Given the description of an element on the screen output the (x, y) to click on. 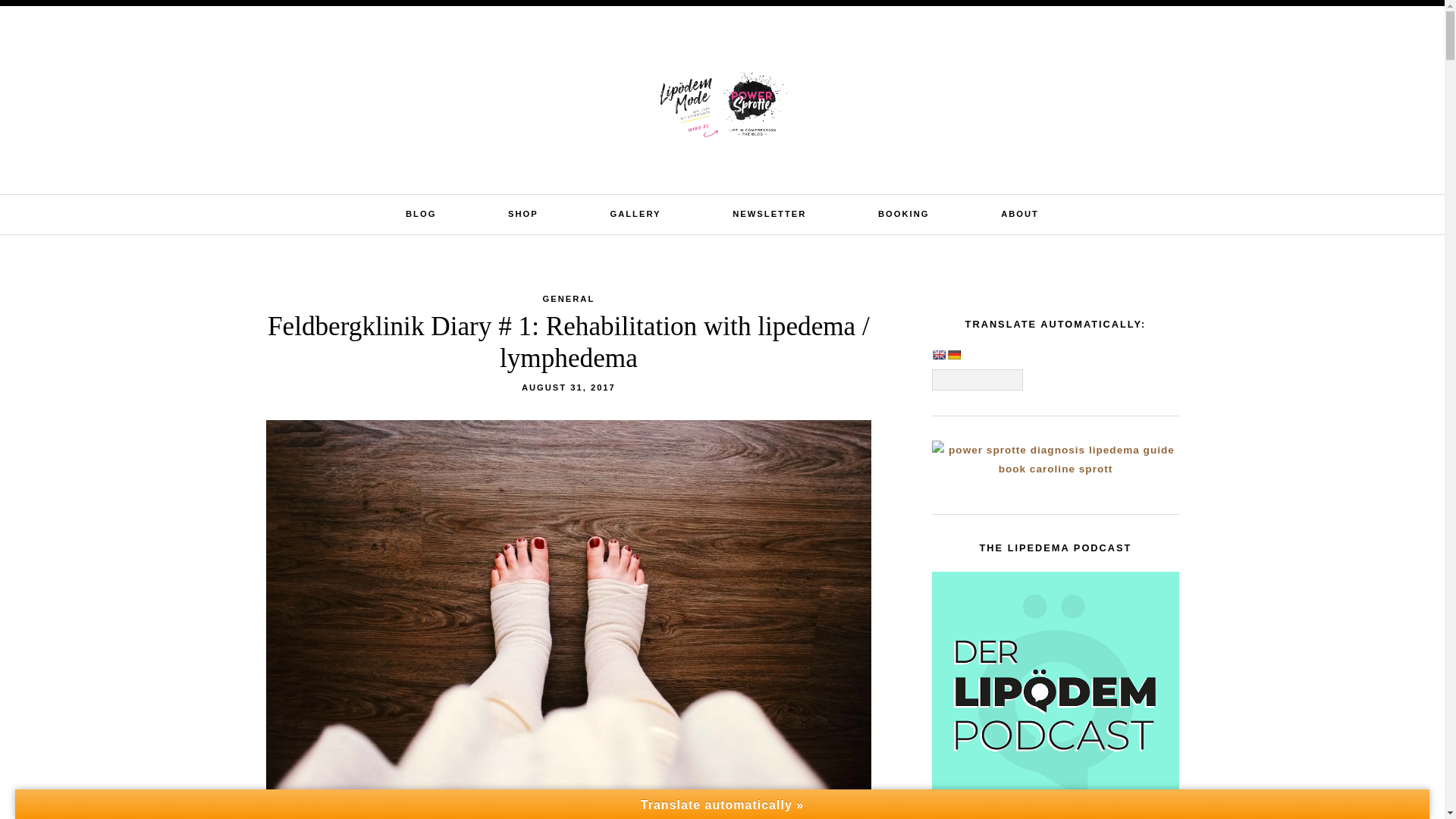
English (937, 354)
German (953, 354)
Suche nach: (1319, 23)
